Given the description of an element on the screen output the (x, y) to click on. 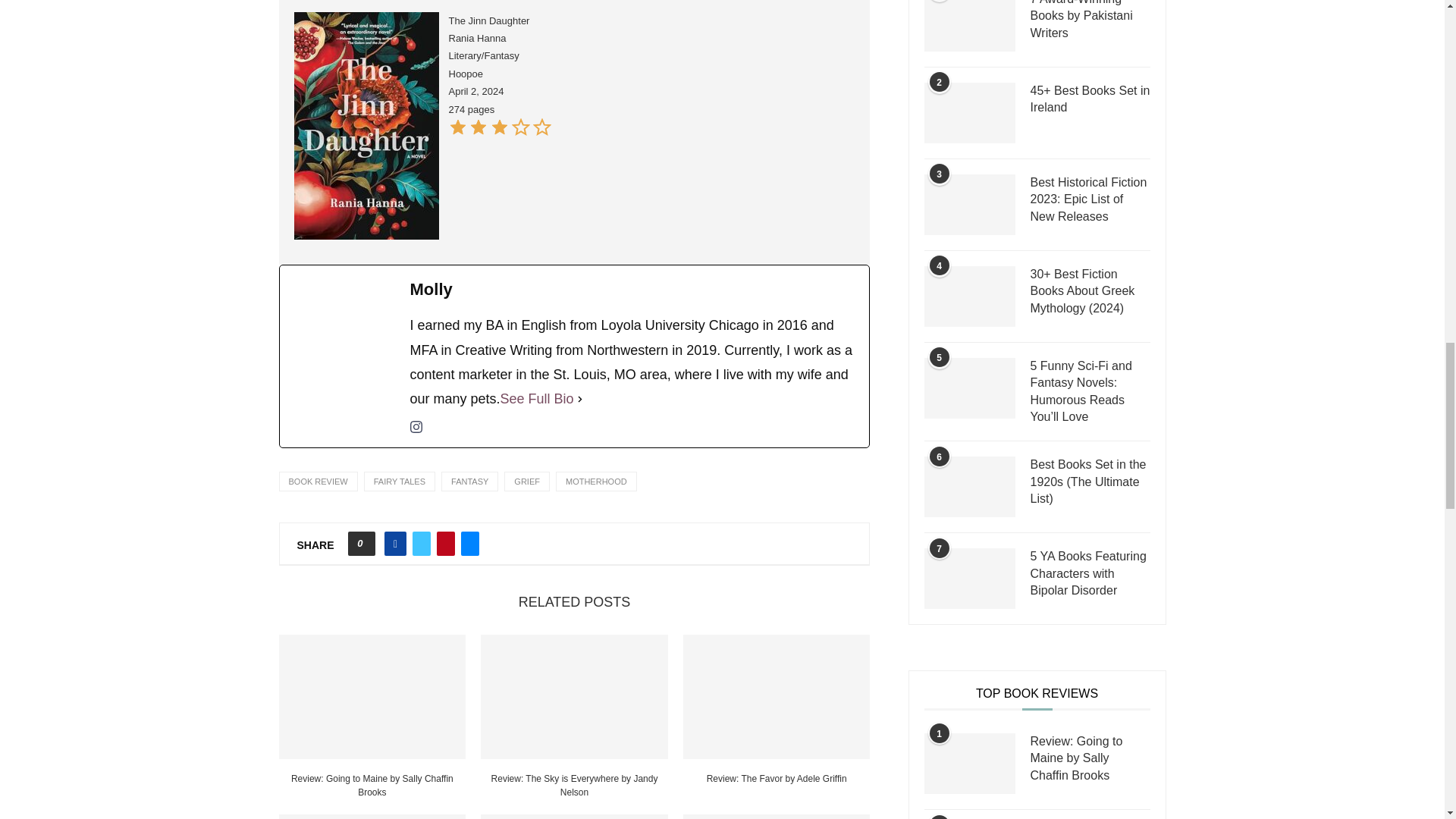
Review: The Favor by Adele Griffin (776, 696)
Review: Going to Maine by Sally Chaffin Brooks (372, 696)
Review: When Women Were Dragons by Kelly Barnhill (574, 816)
Review: The Sky is Everywhere by Jandy Nelson (574, 696)
Review: The Fallen Fruit by Shawntelle Madison (372, 816)
Review: Playing for Freedom by Zarifa Adiba (776, 816)
